Given the description of an element on the screen output the (x, y) to click on. 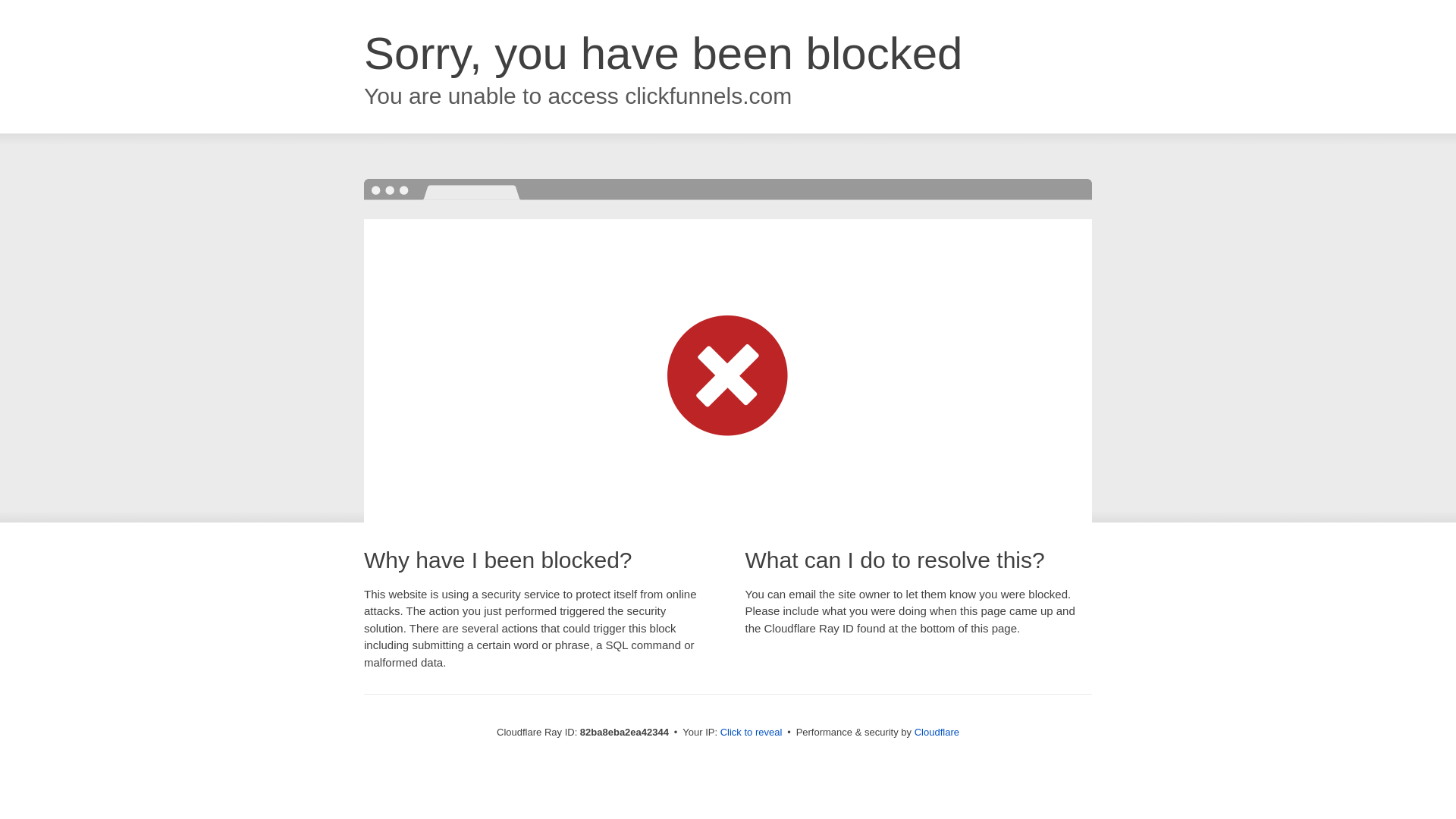
Cloudflare Element type: text (936, 731)
Click to reveal Element type: text (751, 732)
